Given the description of an element on the screen output the (x, y) to click on. 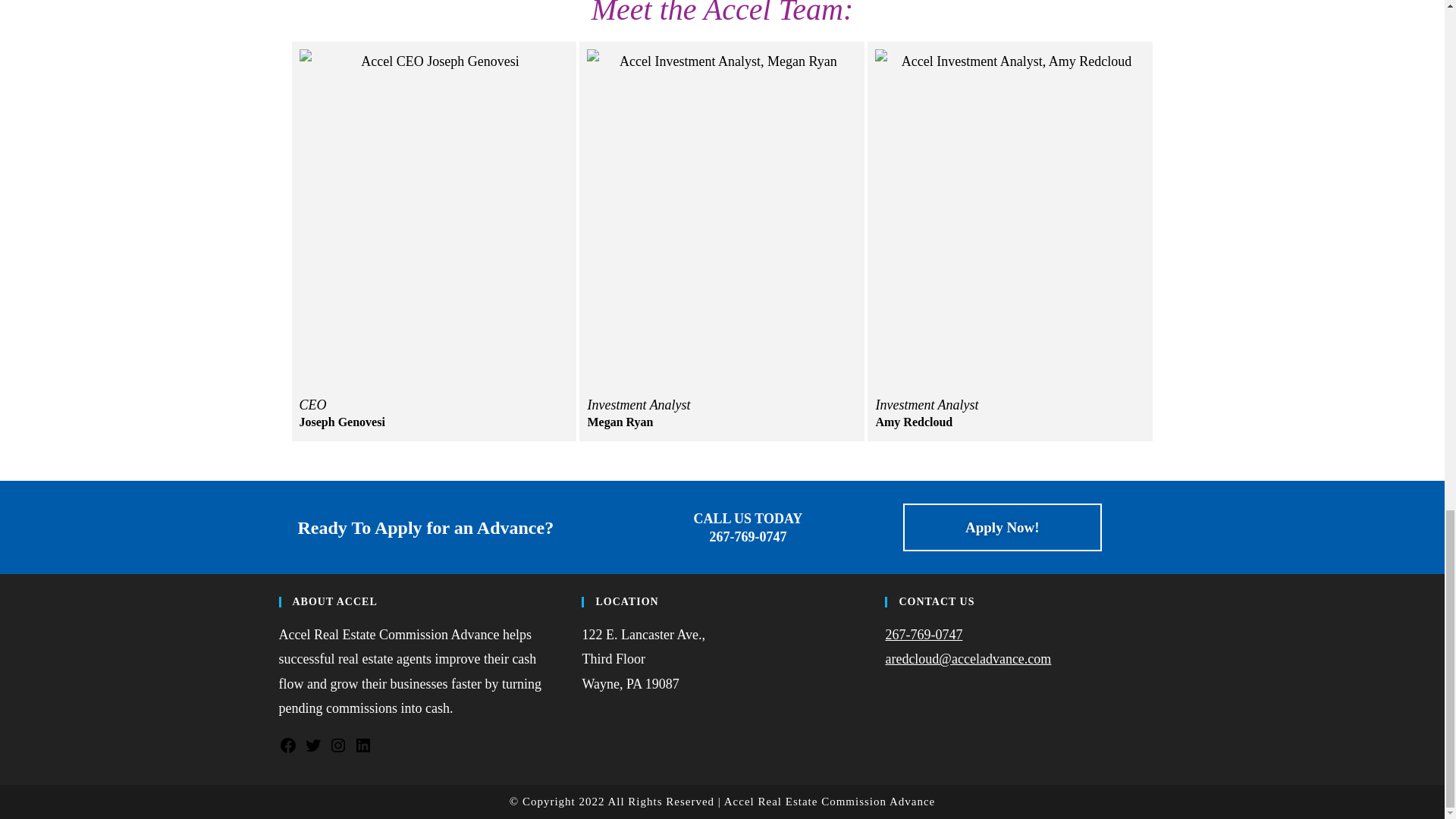
Apply Now! (1002, 527)
267-769-0747 (923, 634)
